Given the description of an element on the screen output the (x, y) to click on. 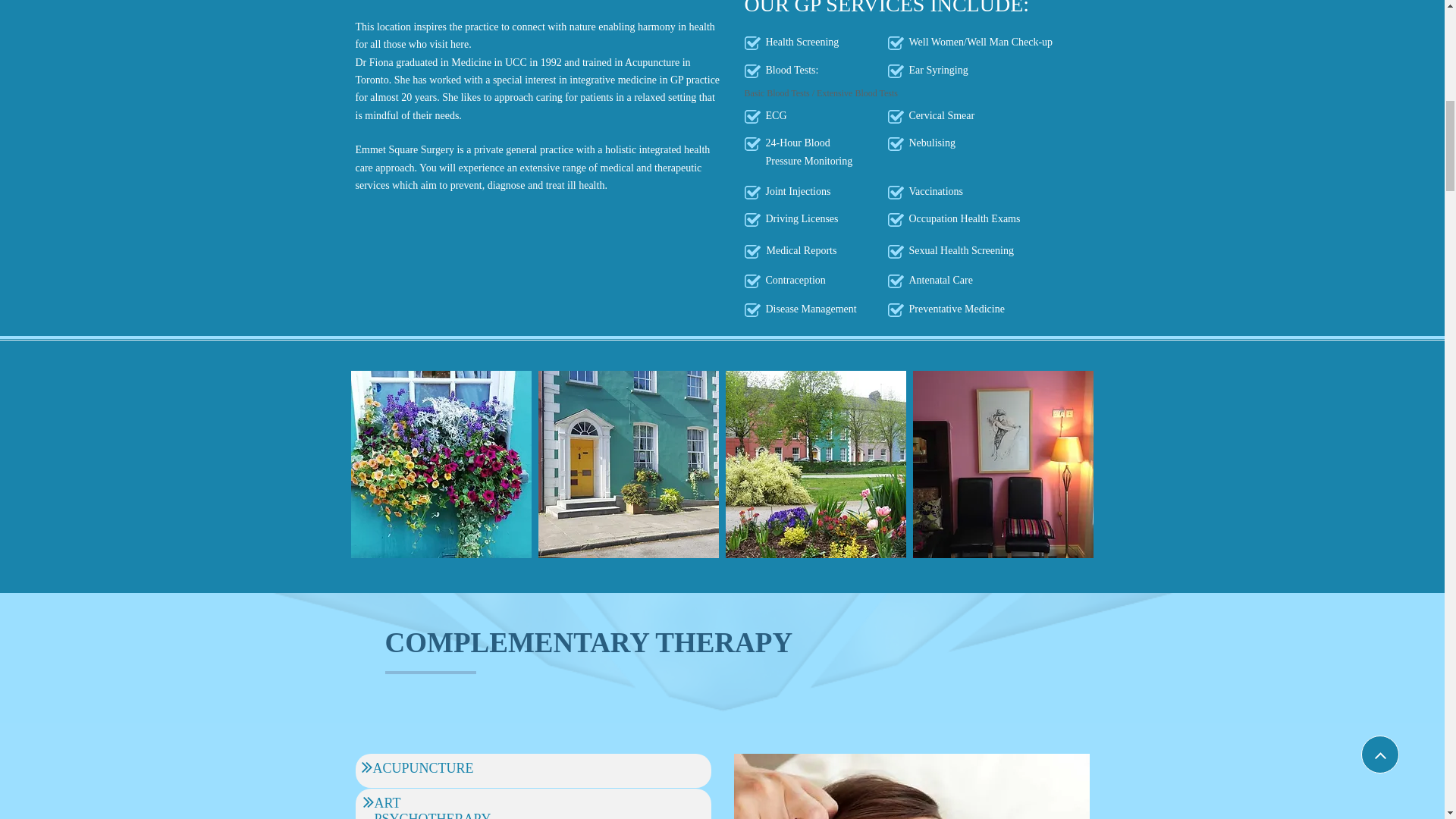
ART PSYCHOTHERAPY (433, 809)
ACUPUNCTURE (423, 769)
